Given the description of an element on the screen output the (x, y) to click on. 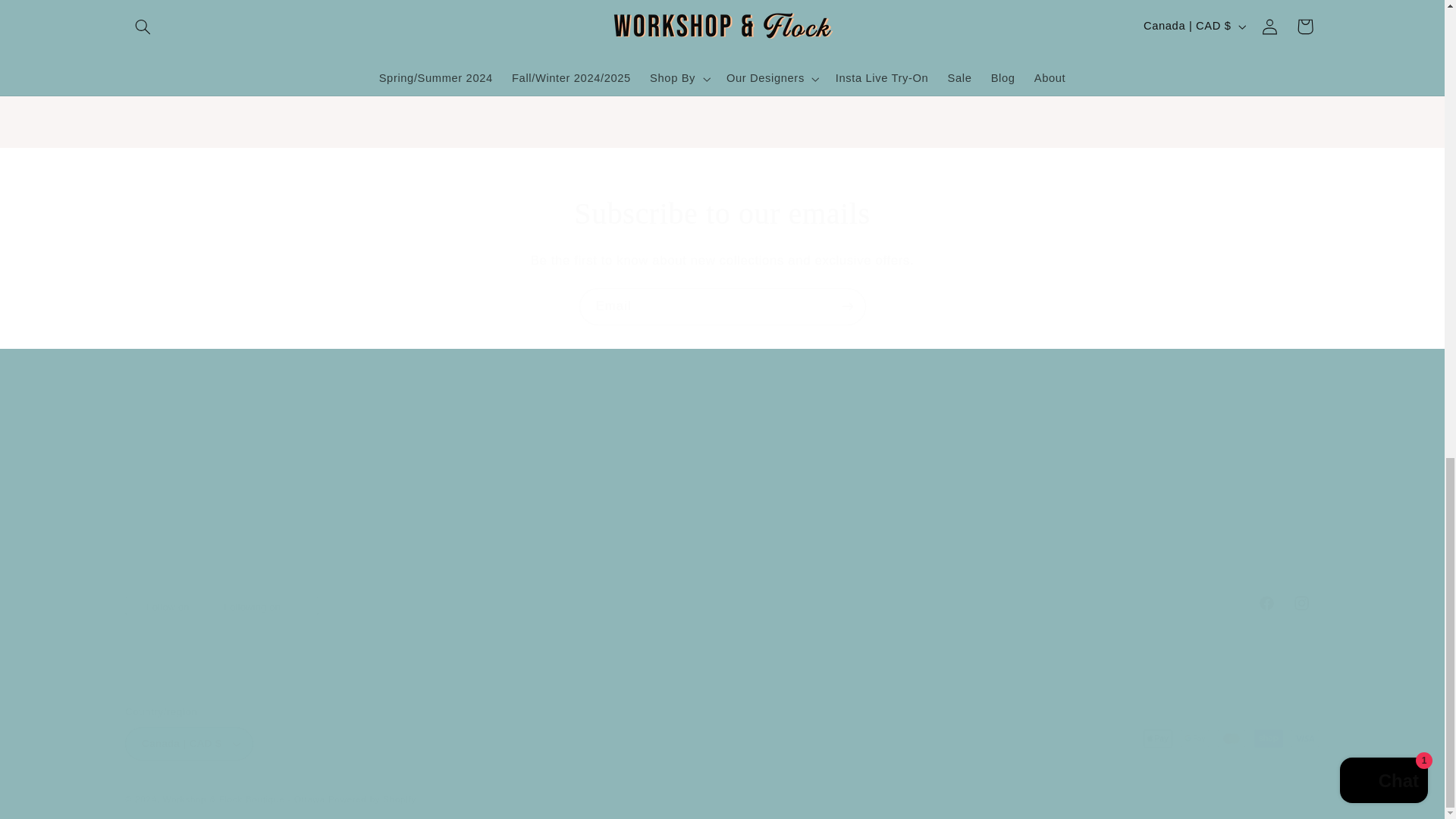
Subscribe to our emails (722, 213)
Email (721, 492)
